Given the description of an element on the screen output the (x, y) to click on. 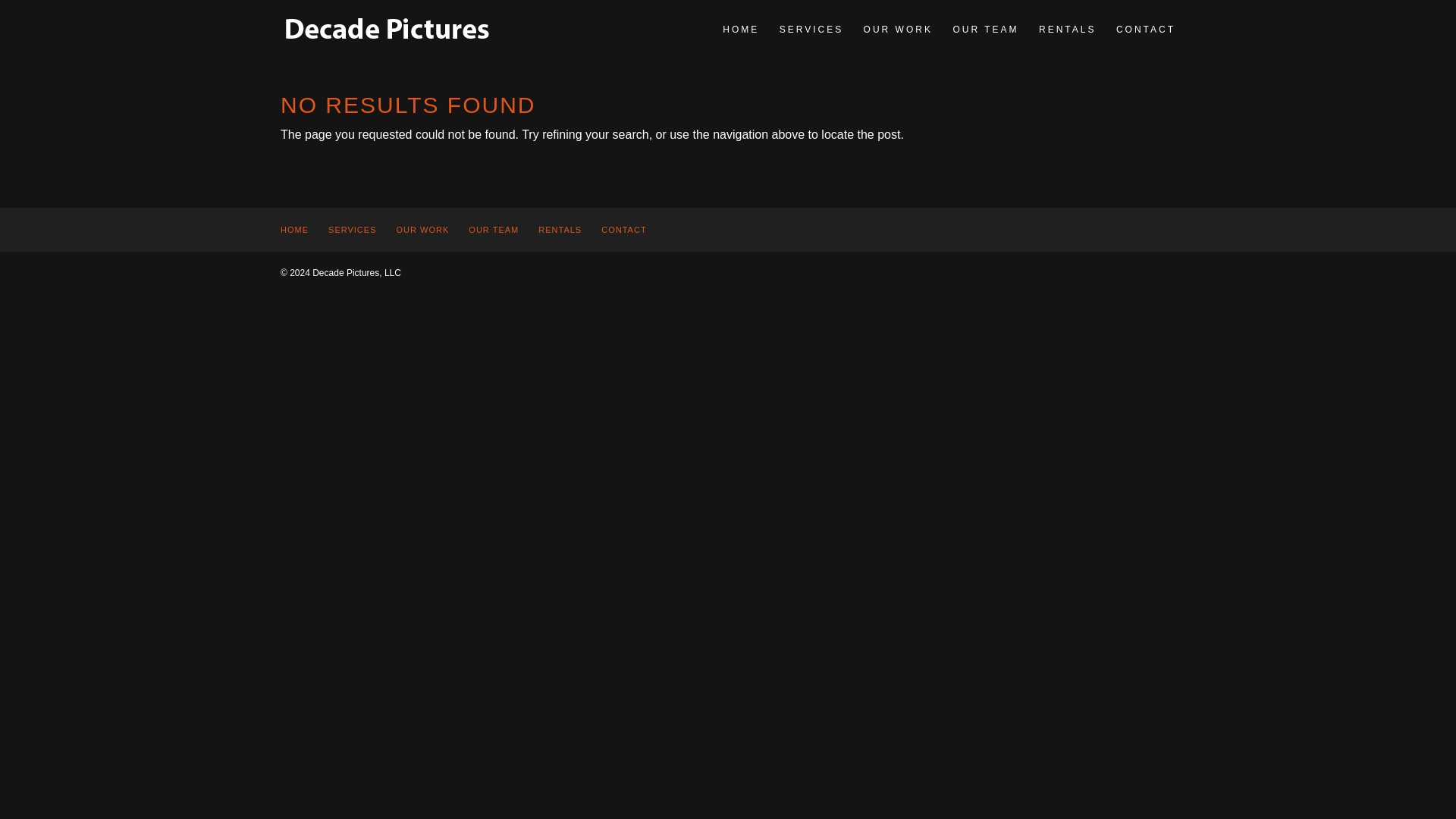
CONTACT (1145, 29)
OUR TEAM (984, 29)
RENTALS (559, 229)
OUR WORK (422, 229)
SERVICES (810, 29)
CONTACT (623, 229)
RENTALS (1067, 29)
OUR TEAM (493, 229)
OUR WORK (898, 29)
SERVICES (352, 229)
